Given the description of an element on the screen output the (x, y) to click on. 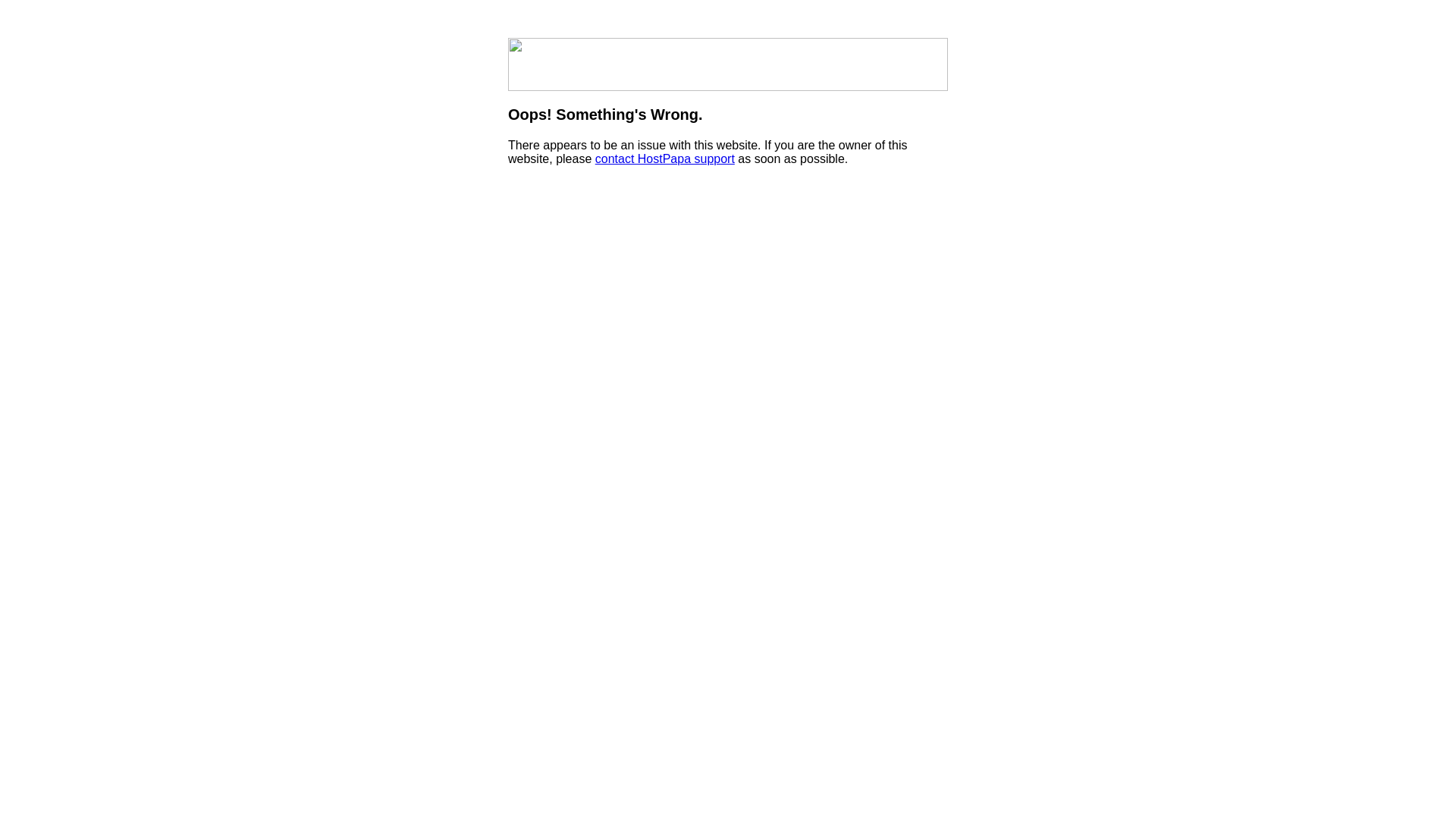
contact HostPapa support Element type: text (664, 158)
